Given the description of an element on the screen output the (x, y) to click on. 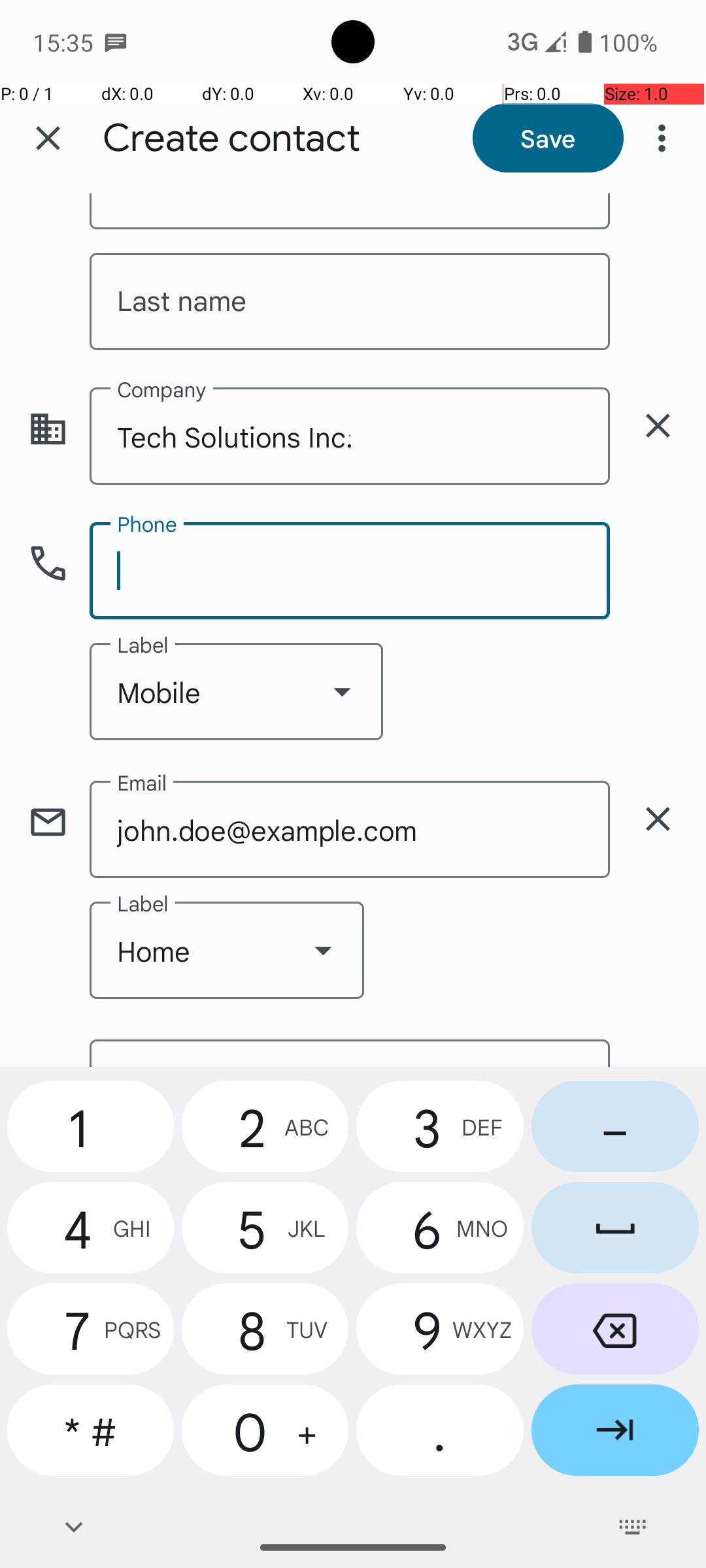
First name Element type: android.widget.EditText (349, 211)
Last name Element type: android.widget.EditText (349, 301)
Tech Solutions Inc. Element type: android.widget.EditText (349, 435)
Delete Organization Element type: android.widget.FrameLayout (657, 425)
Mobile Element type: android.widget.Spinner (236, 691)
Show dropdown menu Element type: android.widget.ImageButton (341, 691)
john.doe@example.com Element type: android.widget.EditText (349, 829)
Delete Home Email Element type: android.widget.FrameLayout (657, 818)
Email Element type: android.widget.EditText (349, 1052)
Show more name fields Element type: android.widget.ImageView (657, 205)
delete Element type: android.widget.ImageView (657, 425)
